Given the description of an element on the screen output the (x, y) to click on. 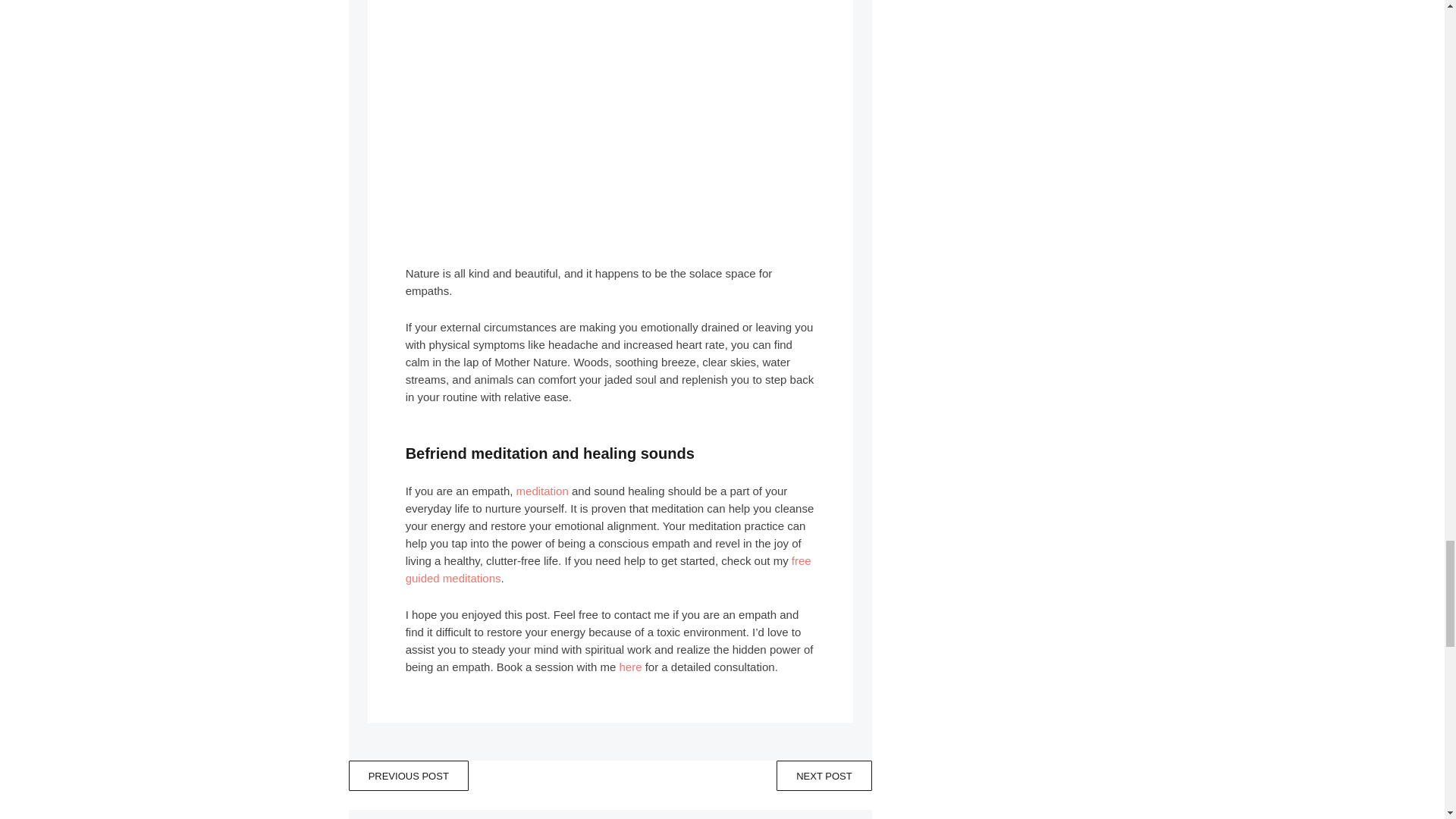
meditation (542, 490)
PREVIOUS POST (408, 775)
NEXT POST (823, 775)
here (630, 666)
free guided meditations (608, 569)
